Given the description of an element on the screen output the (x, y) to click on. 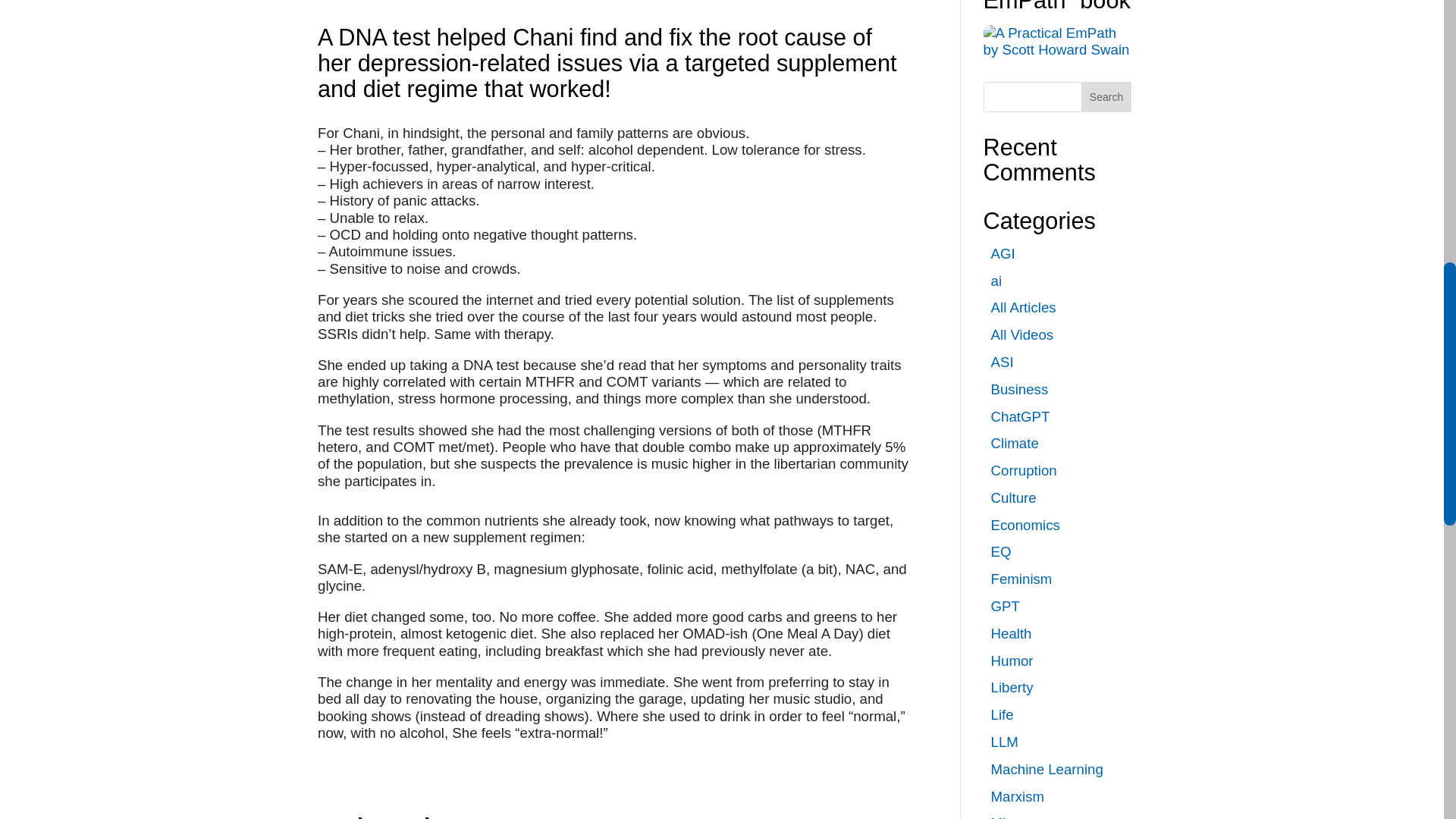
Search (1106, 96)
All Videos (1022, 334)
ASI (1002, 361)
AGI (1002, 253)
Search (1106, 96)
All Articles (1024, 307)
Business (1019, 389)
